Given the description of an element on the screen output the (x, y) to click on. 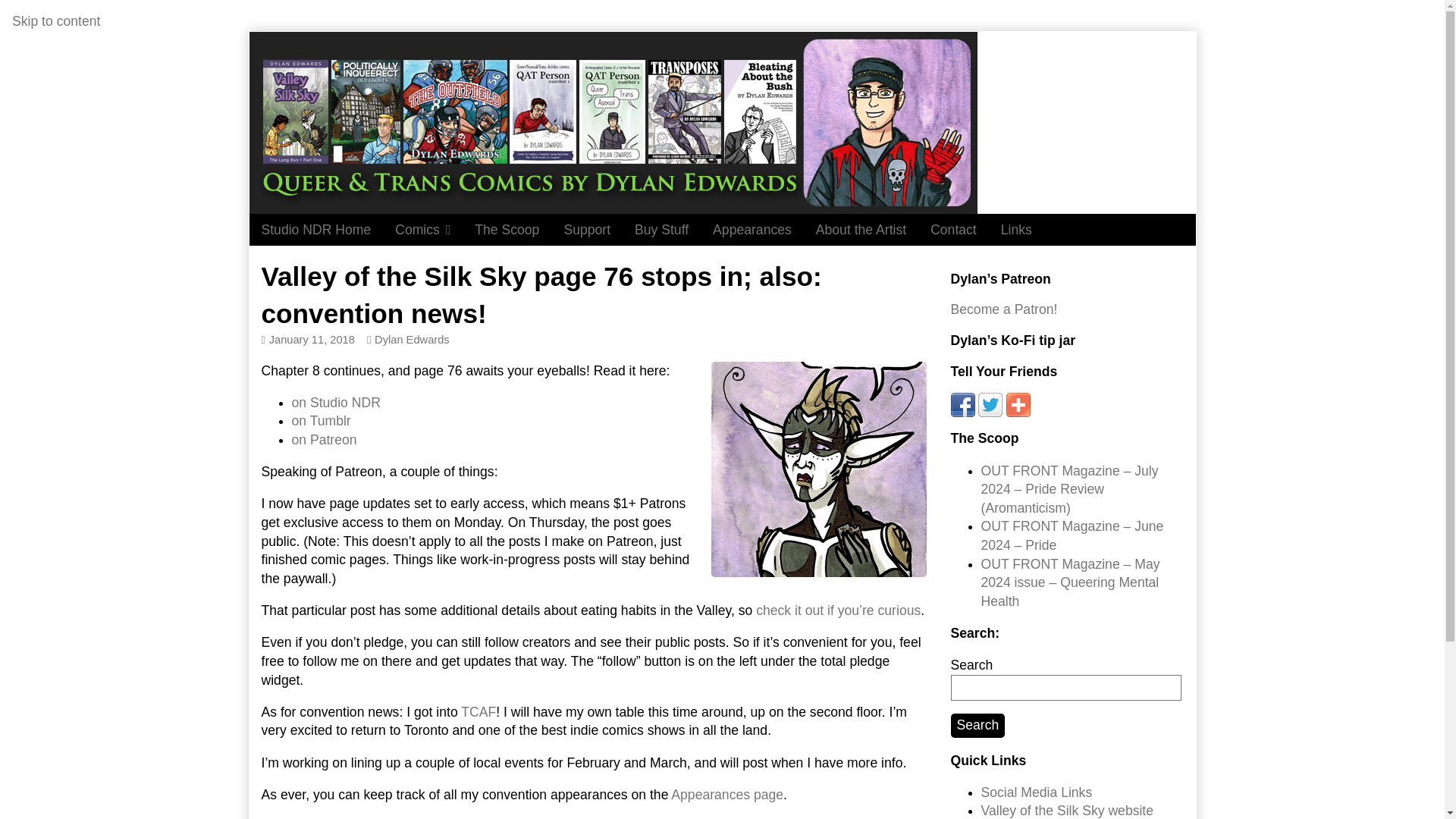
Contact (953, 229)
Become a Patron! (1004, 309)
Comics (422, 229)
Skip to content (55, 20)
Appearances page (727, 794)
a page of links to my various social media accounts (1037, 792)
Support (587, 229)
on Tumblr (320, 420)
